Given the description of an element on the screen output the (x, y) to click on. 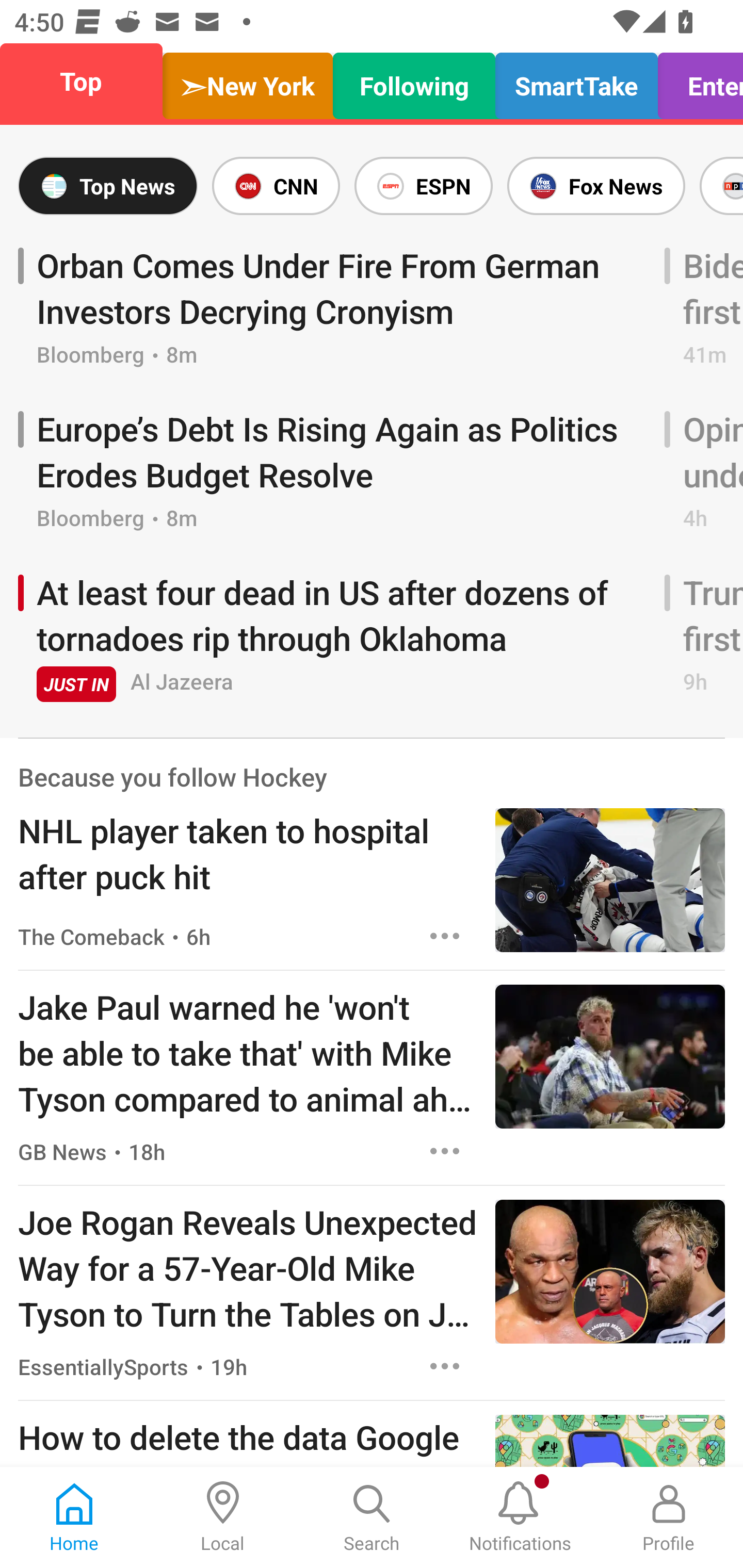
Top (86, 81)
➣New York (247, 81)
Following (413, 81)
SmartTake (576, 81)
Entertain (695, 81)
CNN (275, 185)
ESPN (423, 185)
Fox News (596, 185)
JUST IN (75, 684)
Because you follow Hockey (171, 776)
Options (444, 936)
Options (444, 1150)
Options (444, 1366)
Local (222, 1517)
Search (371, 1517)
Notifications, New notification Notifications (519, 1517)
Profile (668, 1517)
